Given the description of an element on the screen output the (x, y) to click on. 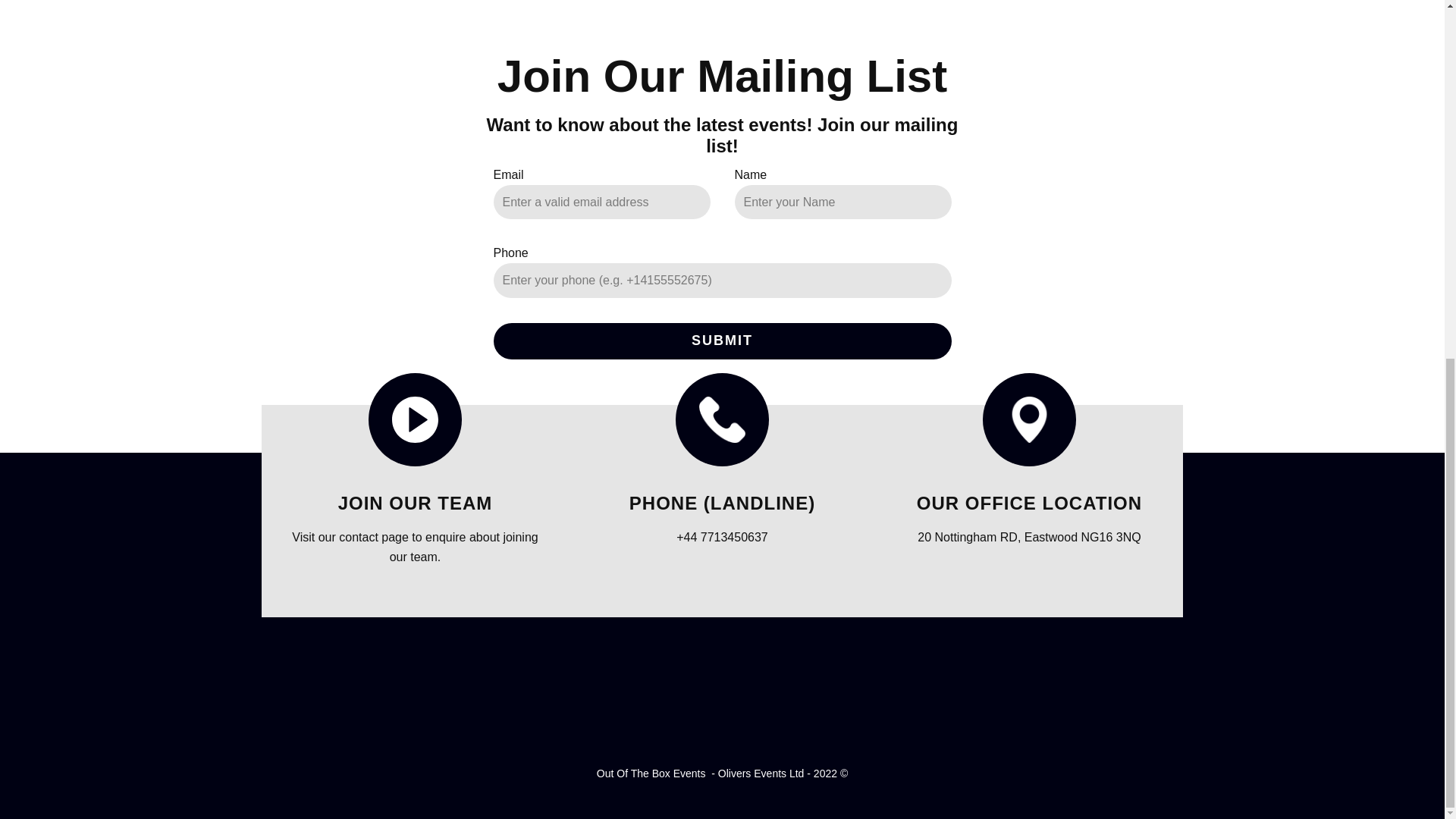
SUBMIT (721, 341)
